Given the description of an element on the screen output the (x, y) to click on. 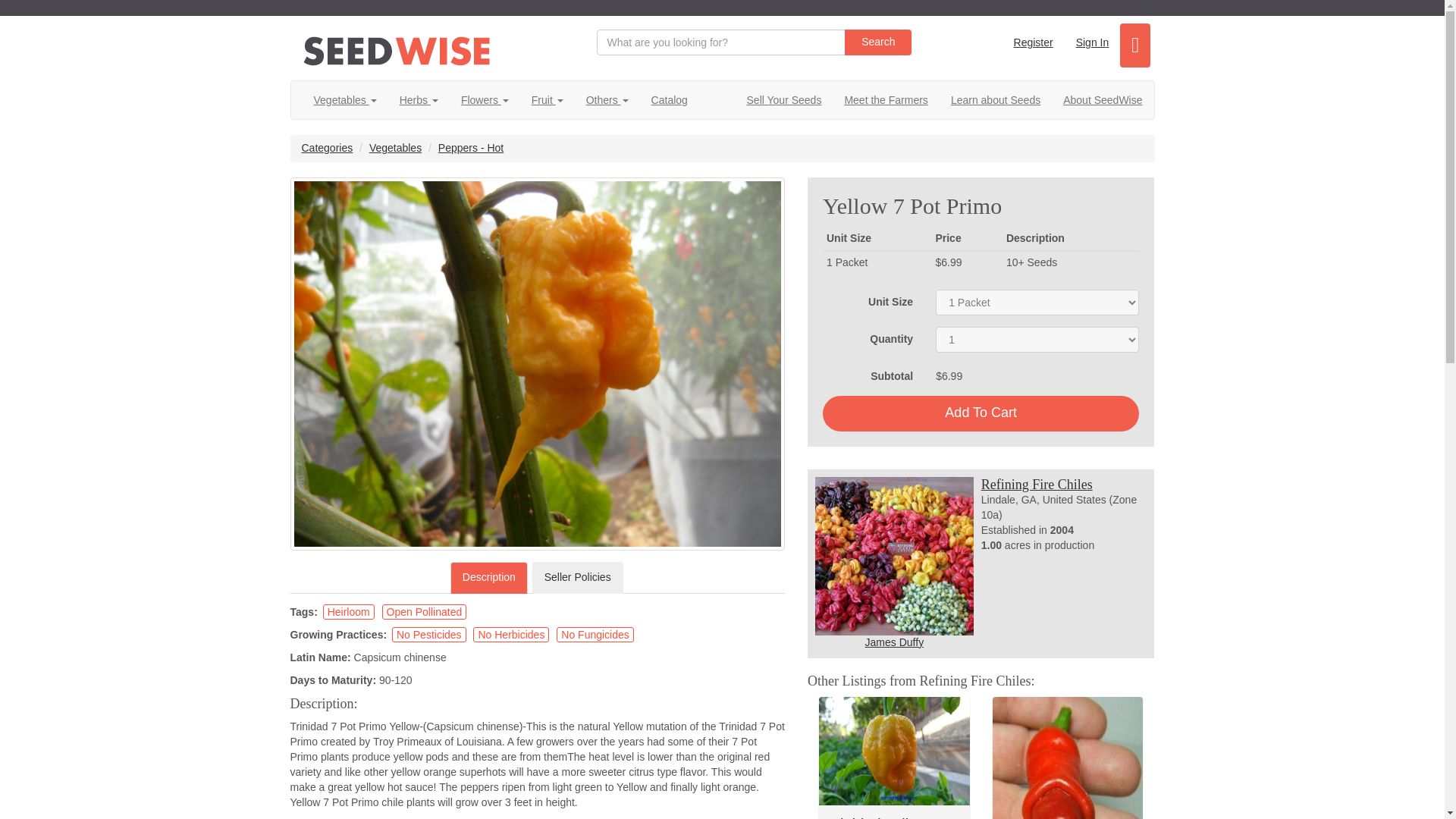
Search (877, 42)
Sign In (1092, 42)
Register (1033, 42)
Vegetables (344, 99)
